Given the description of an element on the screen output the (x, y) to click on. 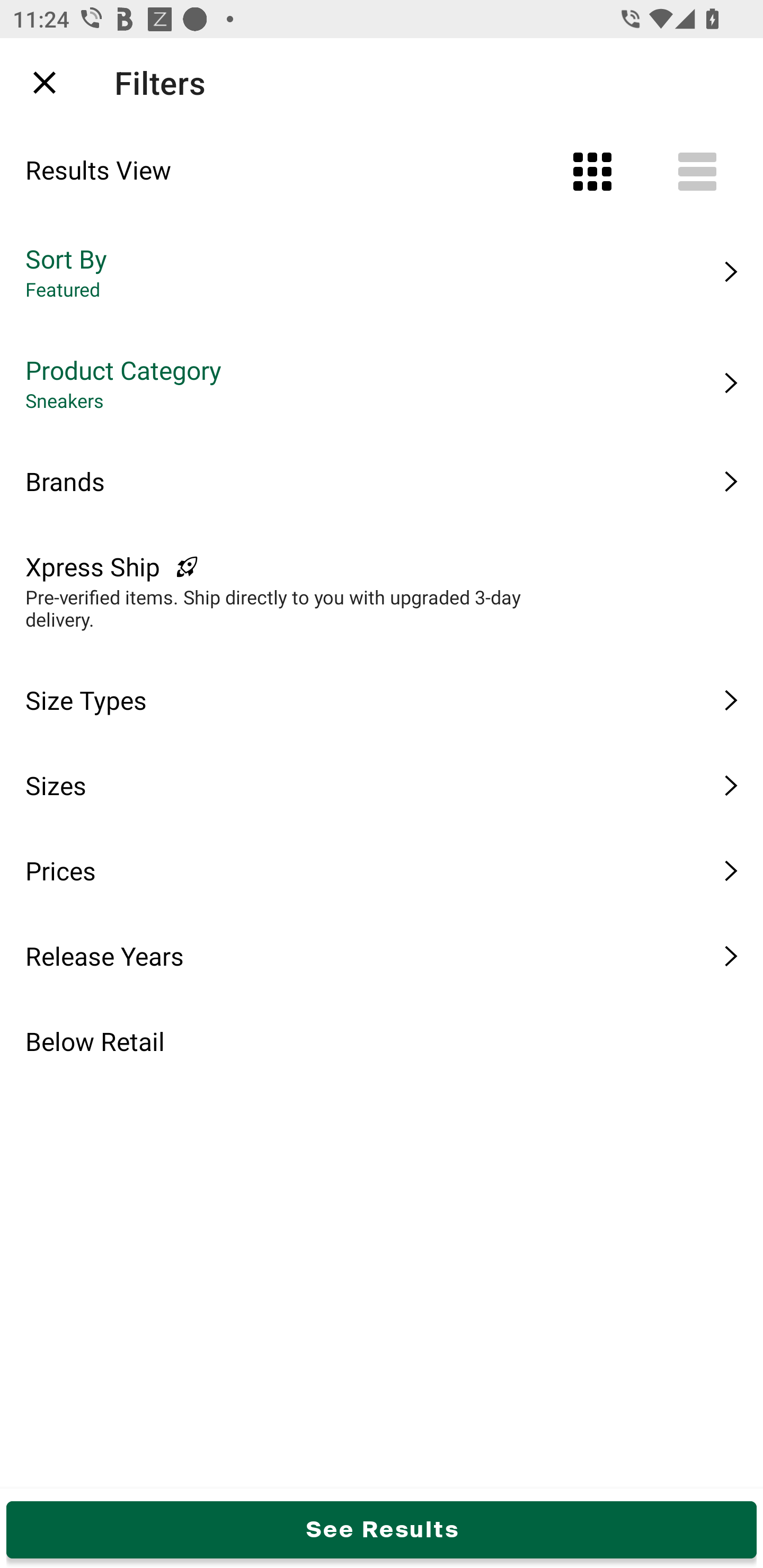
Search by brand, color, etc. (351, 82)
Grid View (591, 171)
List View (697, 171)
Sort By Featured Next (381, 271)
Product Category Sneakers Next (381, 383)
Brands Next (381, 481)
Size Types Next (381, 699)
Sizes Next (381, 785)
Prices Next (381, 869)
Release Years Next (381, 955)
Below Retail (381, 1040)
See Results (381, 1529)
